Given the description of an element on the screen output the (x, y) to click on. 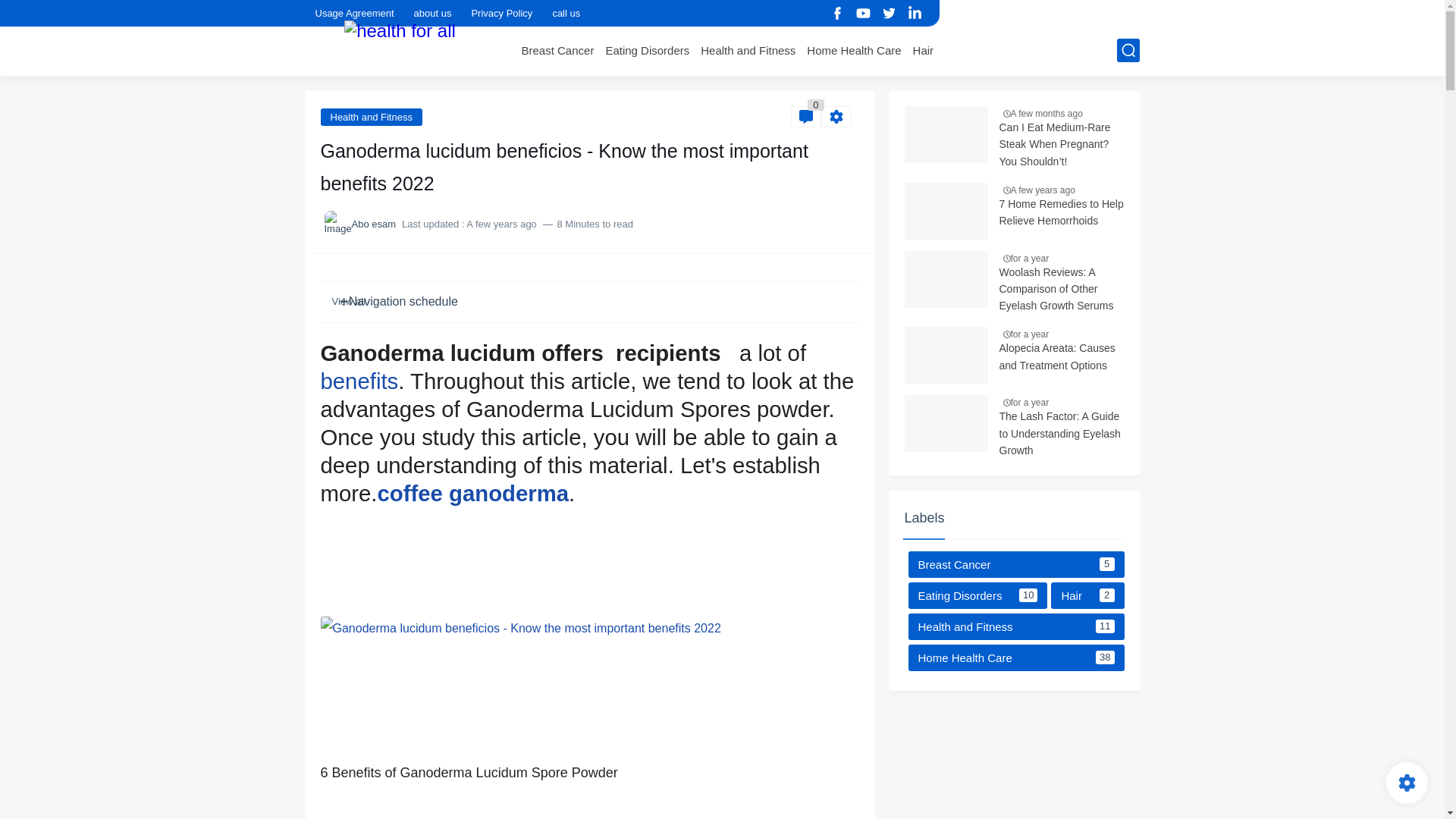
youtube (862, 13)
Health and Fitness (747, 50)
Eating Disorders (646, 50)
Home Health Care (853, 50)
Health and Fitness (371, 116)
linkedin (914, 13)
Usage Agreement (354, 12)
coffee ganoderma (473, 493)
Health and Fitness (747, 50)
benefits (358, 380)
